Given the description of an element on the screen output the (x, y) to click on. 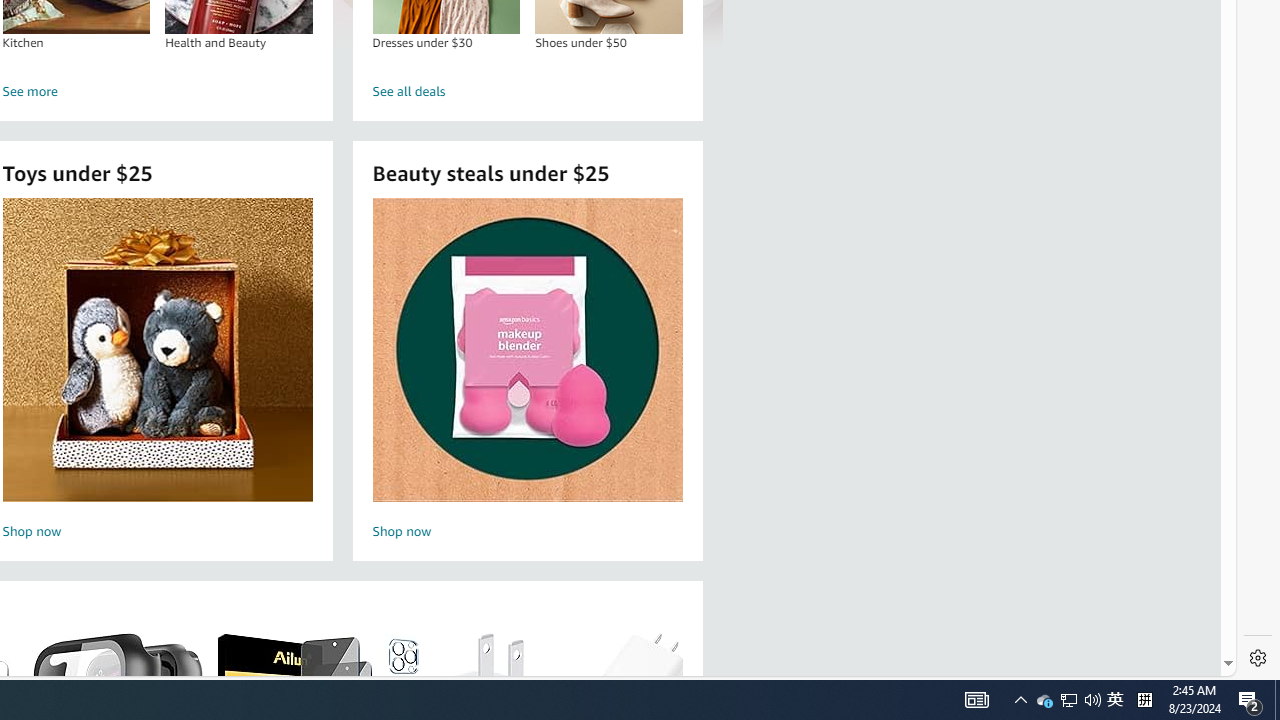
See more (157, 92)
Settings (1258, 658)
See all deals (527, 92)
Beauty steals under $25 (526, 349)
Beauty steals under $25 Shop now (527, 371)
